Given the description of an element on the screen output the (x, y) to click on. 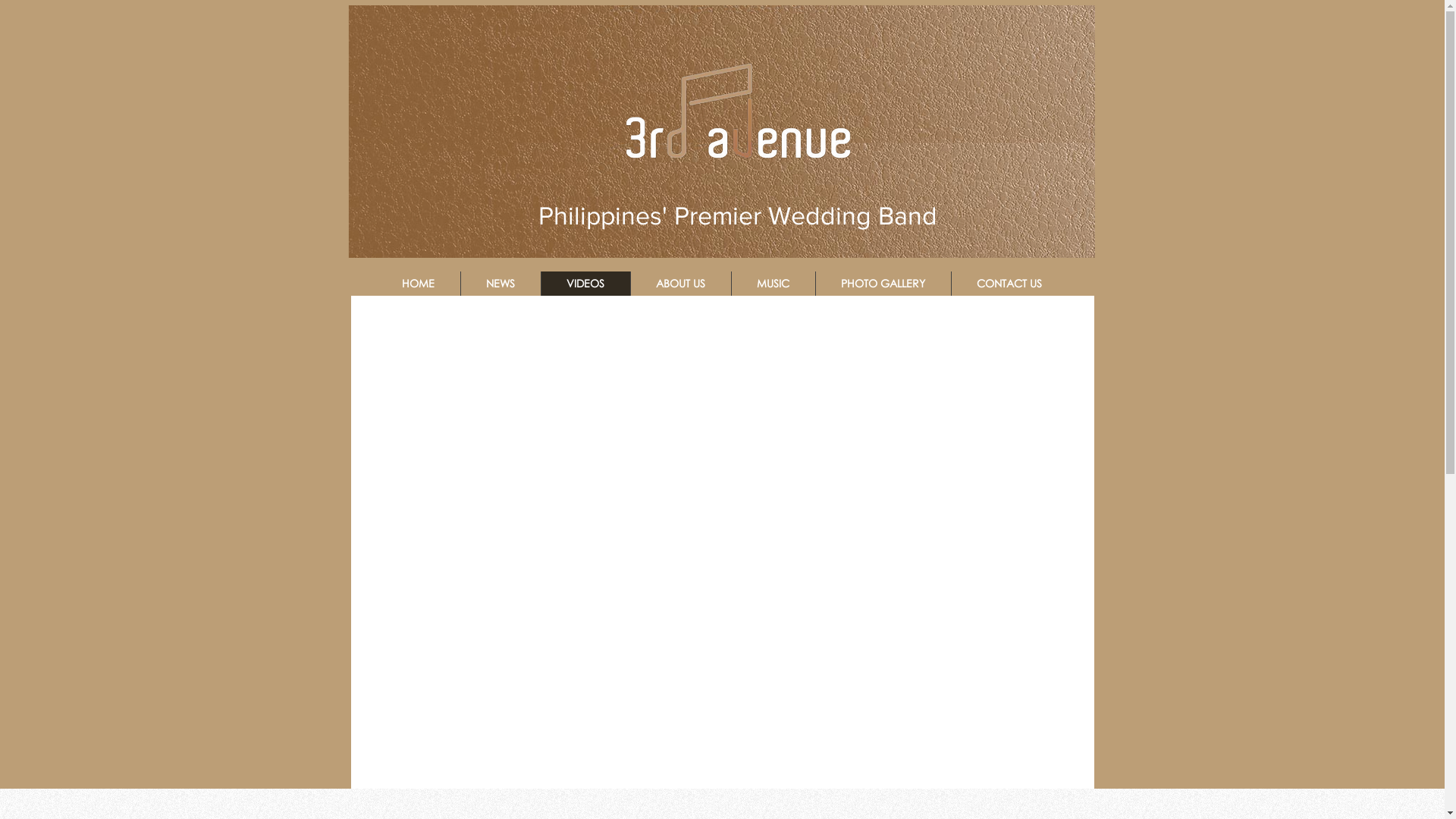
MUSIC Element type: text (773, 283)
CONTACT US Element type: text (1008, 283)
HOME Element type: text (417, 283)
NEWS Element type: text (499, 283)
VIDEOS Element type: text (584, 283)
PHOTO GALLERY Element type: text (882, 283)
ABOUT US Element type: text (679, 283)
